Given the description of an element on the screen output the (x, y) to click on. 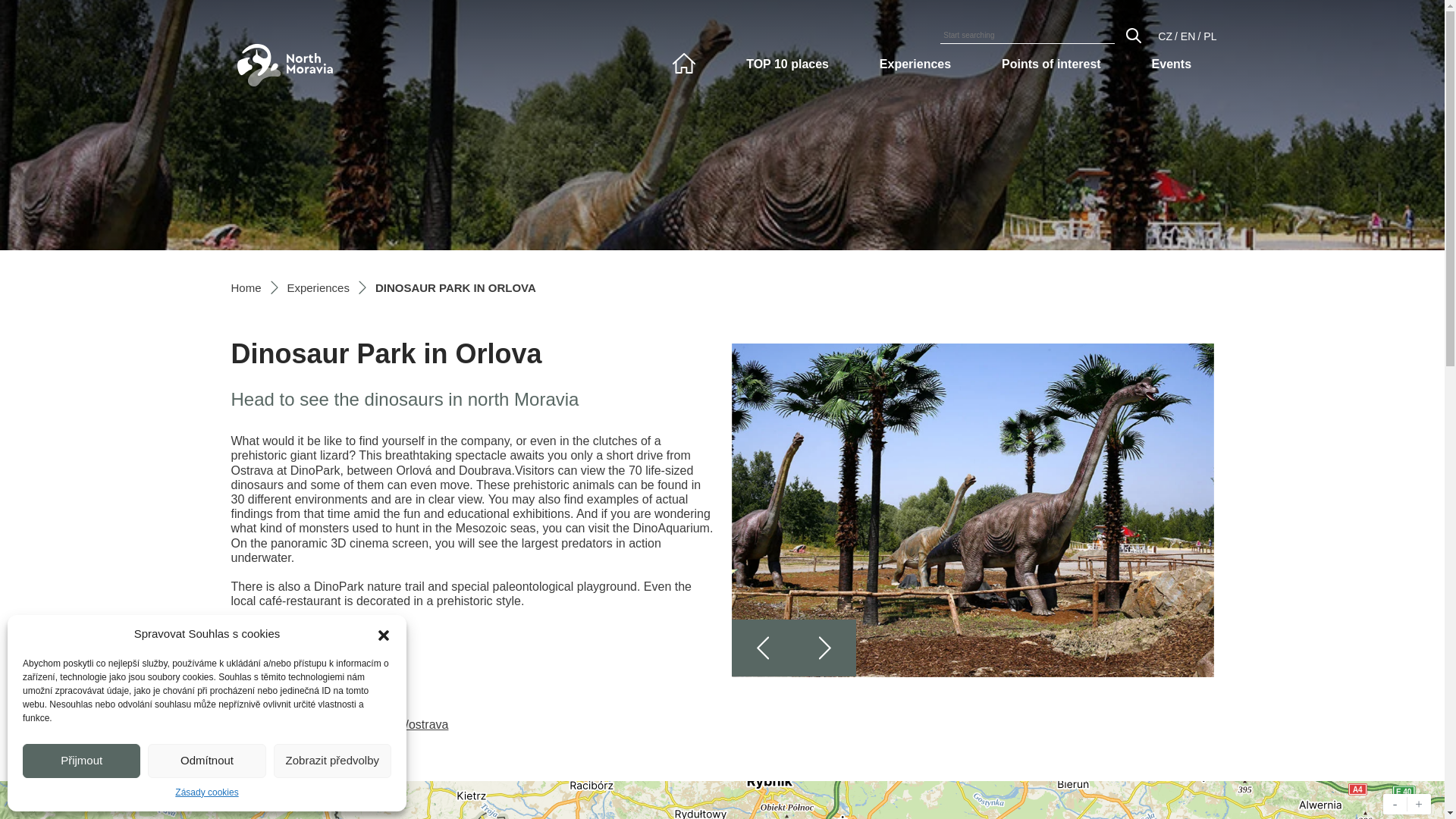
Points of interest (1051, 63)
Experiences (317, 287)
CZ (1164, 36)
Events (1172, 63)
PL (1209, 36)
Search (1133, 35)
Experiences (914, 63)
TOP 10 places (787, 63)
EN (1187, 36)
Home (245, 287)
